Given the description of an element on the screen output the (x, y) to click on. 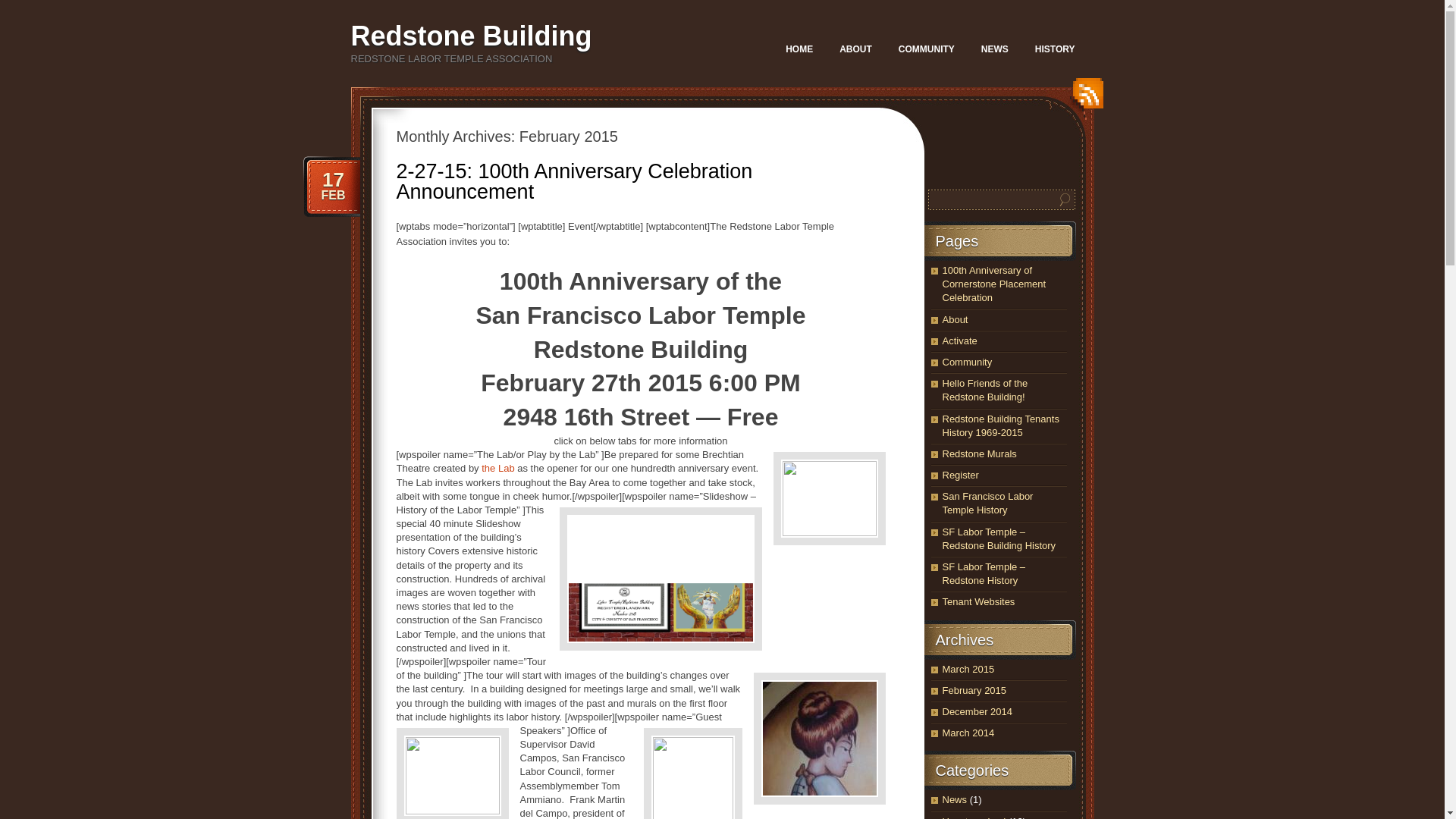
Redstone Building Tenants History 1969-2015 (1000, 424)
About (955, 319)
the Lab (497, 468)
COMMUNITY (926, 48)
Redstone Building (470, 35)
Hello Friends of the Redstone Building! (984, 389)
Search (1064, 199)
Community (966, 361)
HOME (799, 48)
NEWS (995, 48)
